Given the description of an element on the screen output the (x, y) to click on. 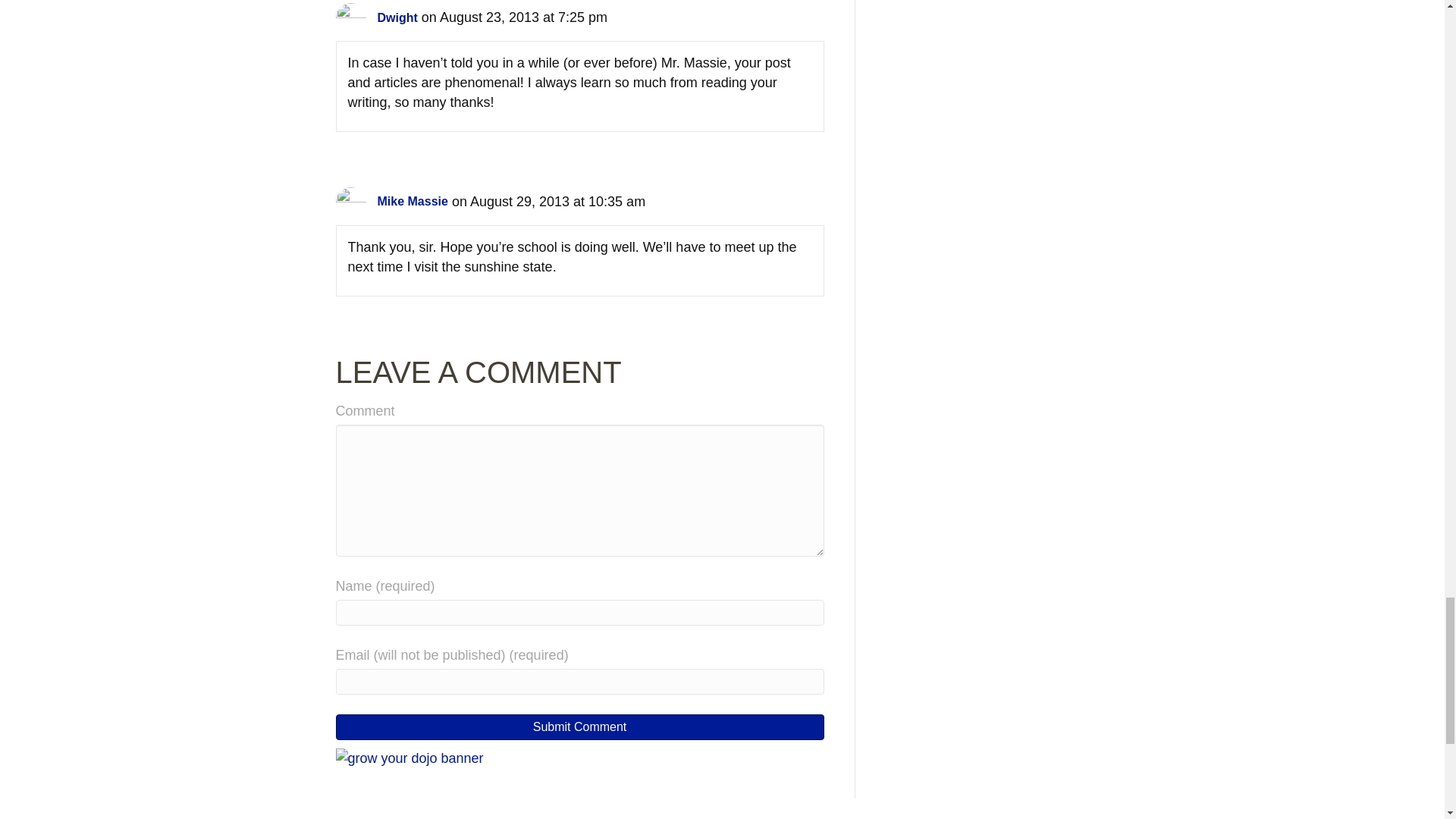
Mike Massie (412, 201)
Submit Comment (579, 726)
Dwight (397, 17)
